Given the description of an element on the screen output the (x, y) to click on. 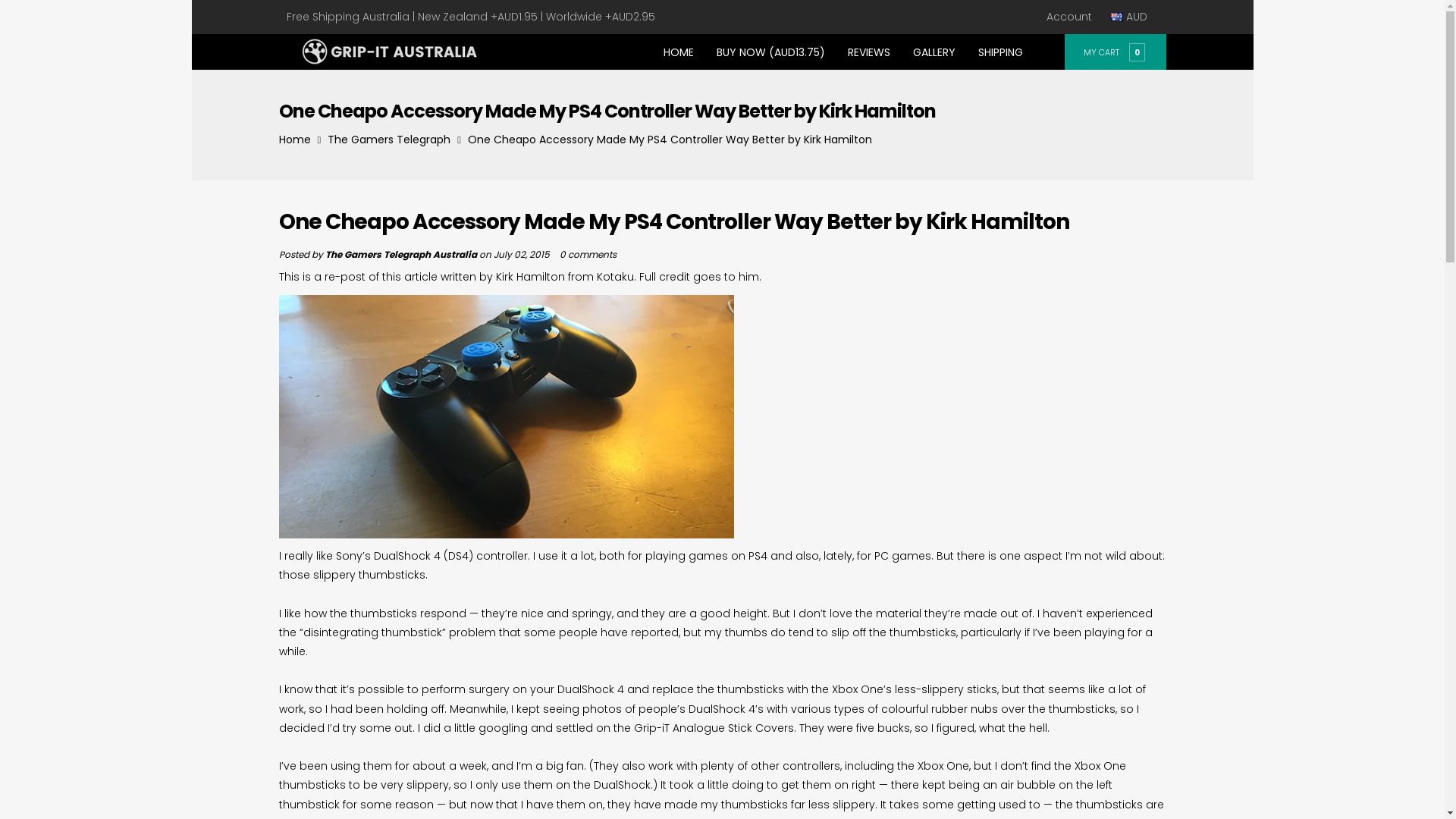
REVIEWS Element type: text (867, 51)
SHIPPING Element type: text (999, 51)
Home Element type: text (294, 139)
GALLERY Element type: text (933, 51)
MY CART 0 Element type: text (1114, 51)
The Gamers Telegraph Element type: text (388, 139)
BUY NOW (AUD13.75) Element type: text (770, 51)
this article Element type: text (409, 276)
HOME Element type: text (678, 51)
0 comments Element type: text (587, 253)
